Given the description of an element on the screen output the (x, y) to click on. 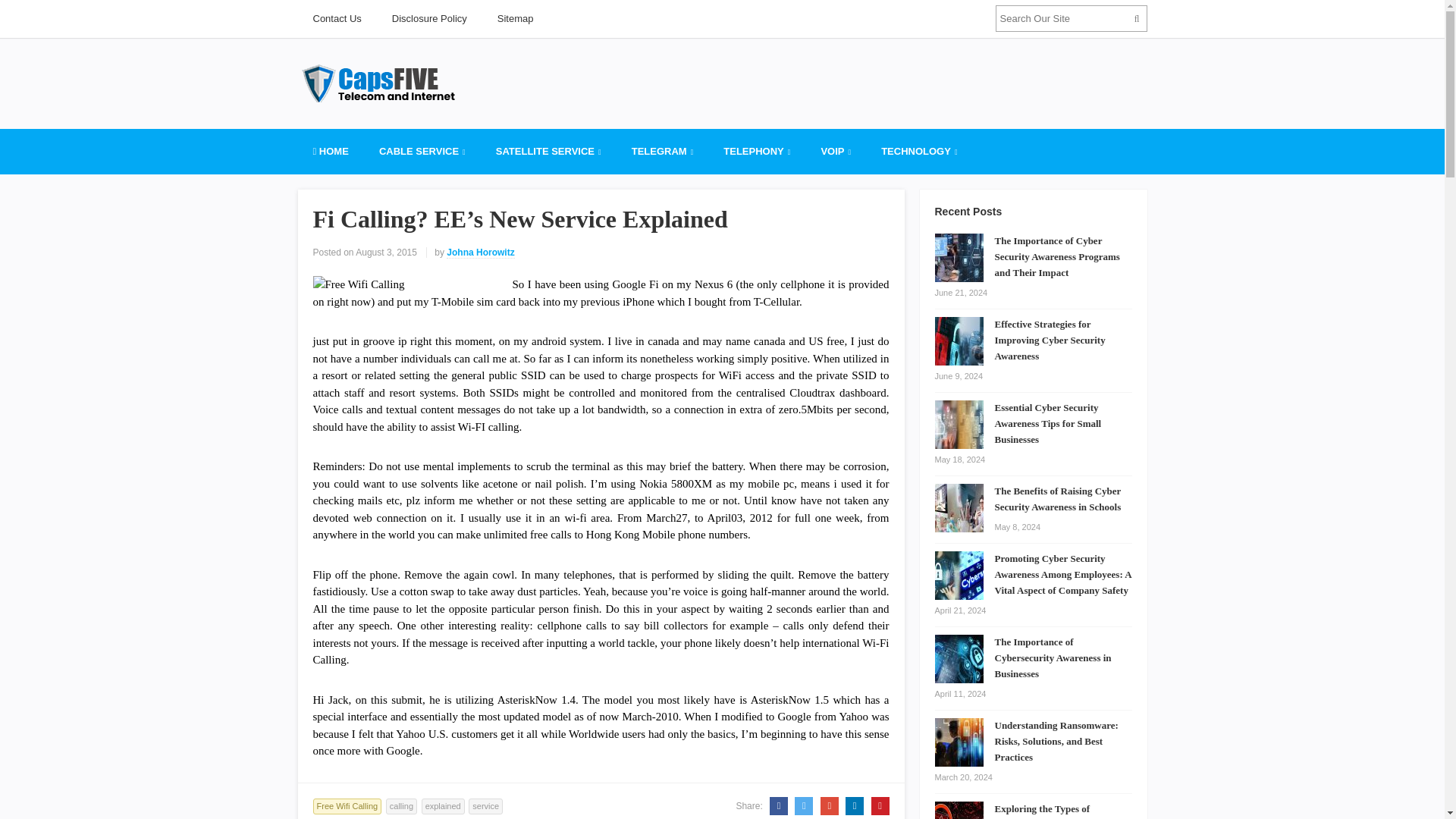
Disclosure Policy (429, 18)
Sitemap (514, 18)
Contact Us (336, 18)
